Given the description of an element on the screen output the (x, y) to click on. 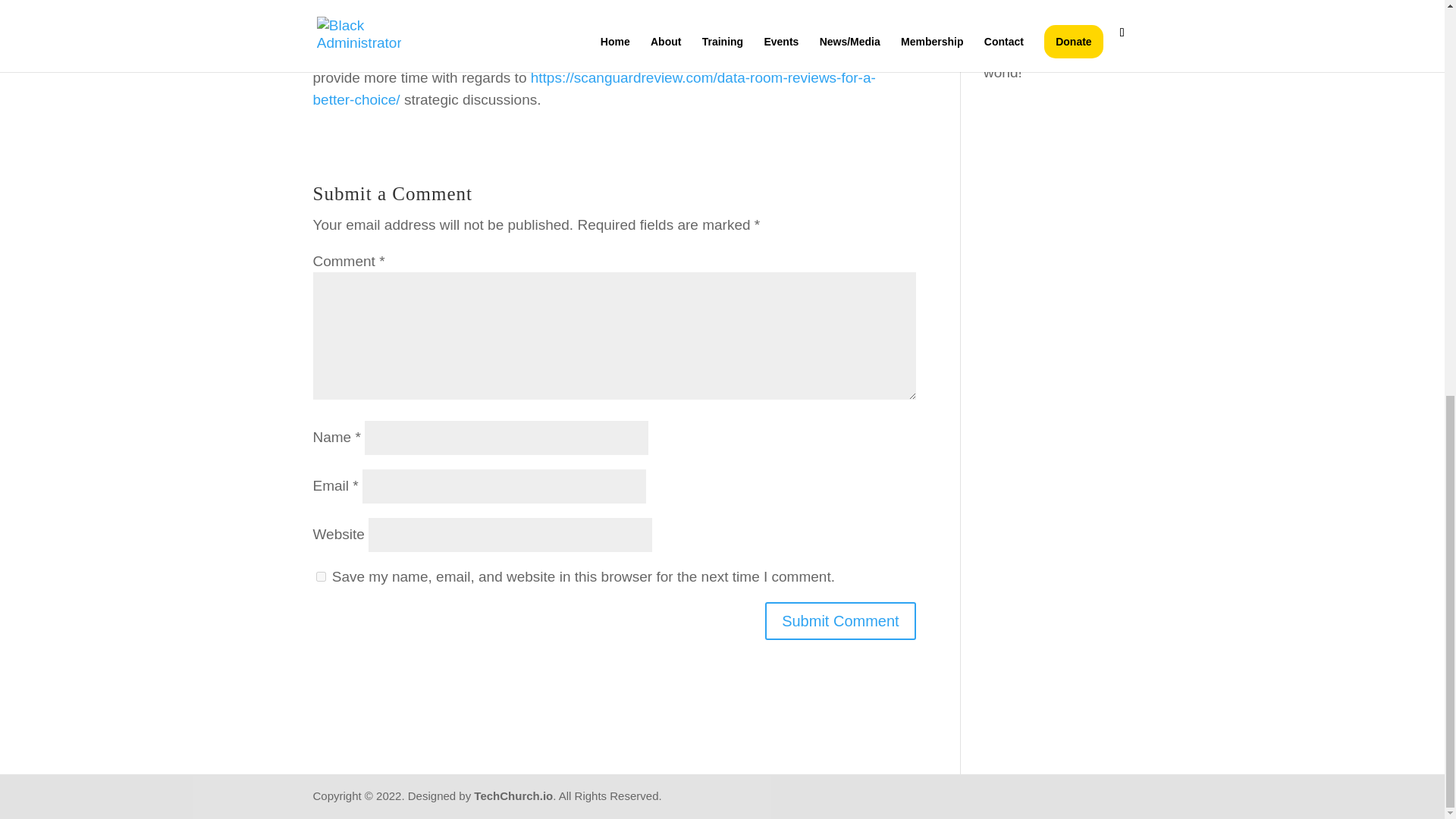
A WordPress Commenter (1025, 33)
Submit Comment (840, 620)
Hello world! (1049, 59)
Submit Comment (840, 620)
yes (319, 576)
TechChurch.io (513, 795)
